Given the description of an element on the screen output the (x, y) to click on. 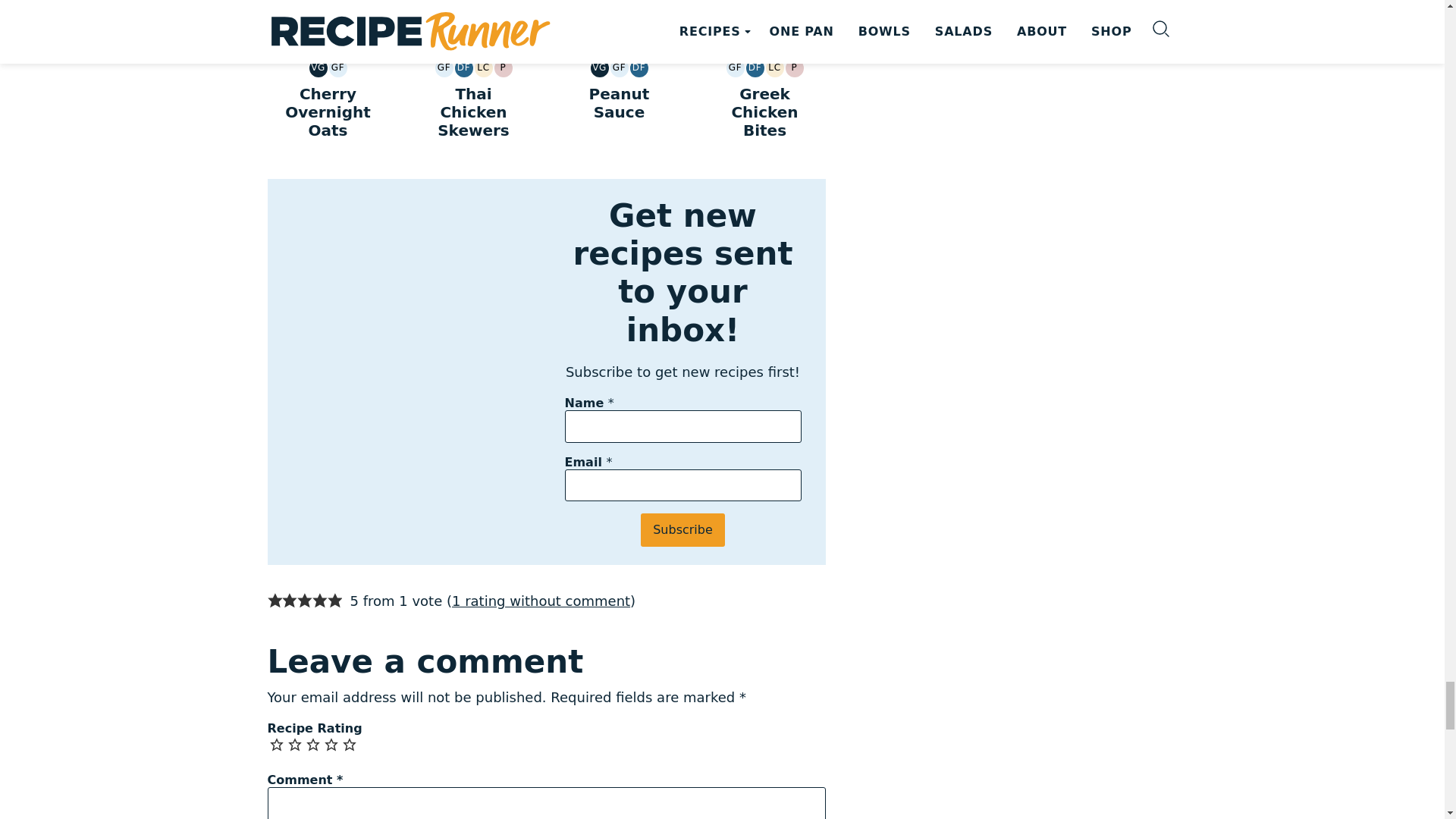
Gluten Free (338, 67)
Dairy Free (463, 67)
Vegetarian (317, 67)
Gluten Free (443, 67)
